Given the description of an element on the screen output the (x, y) to click on. 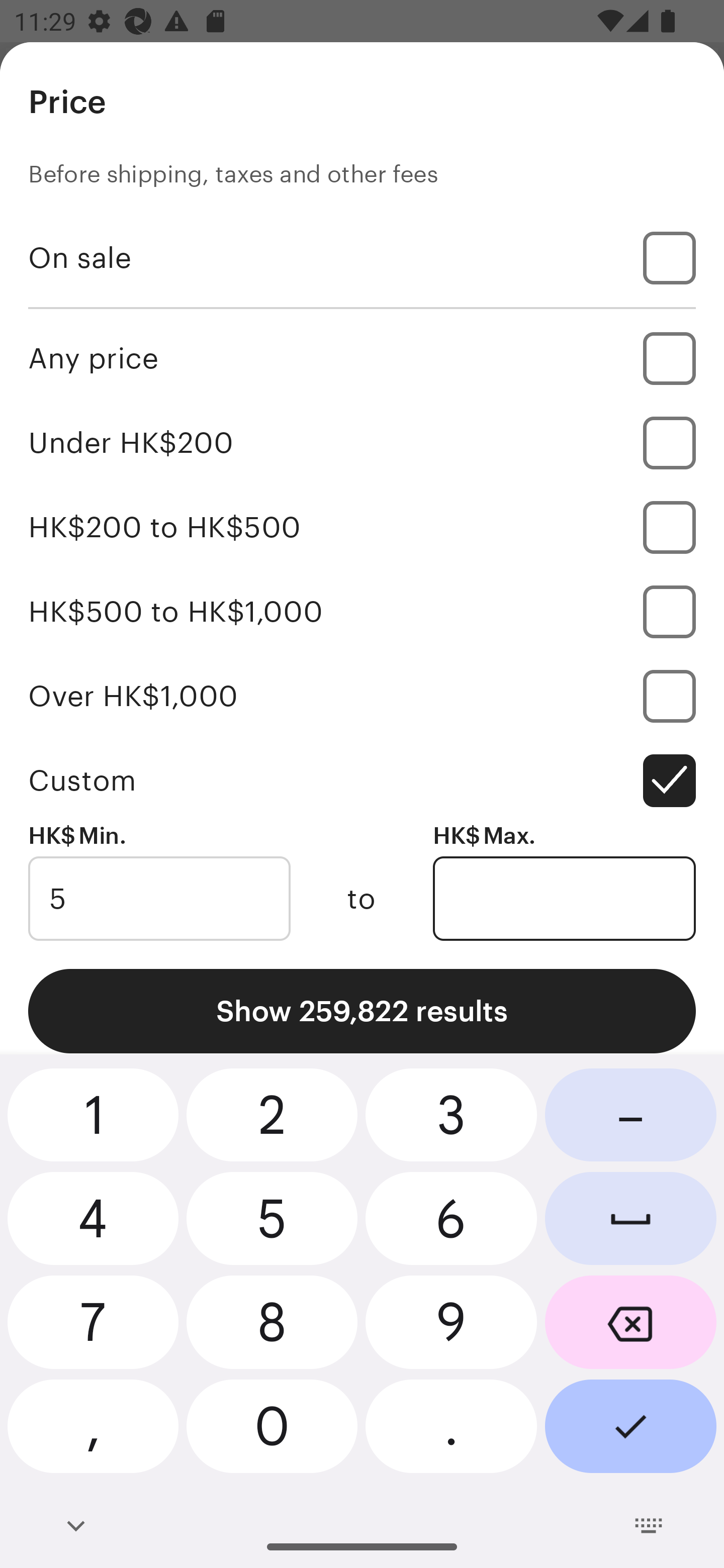
On sale (362, 257)
Any price (362, 357)
Under HK$200 (362, 441)
HK$200 to HK$500 (362, 526)
HK$500 to HK$1,000 (362, 611)
Over HK$1,000 (362, 695)
Custom (362, 780)
5 (159, 898)
Show 259,822 results (361, 1011)
